Given the description of an element on the screen output the (x, y) to click on. 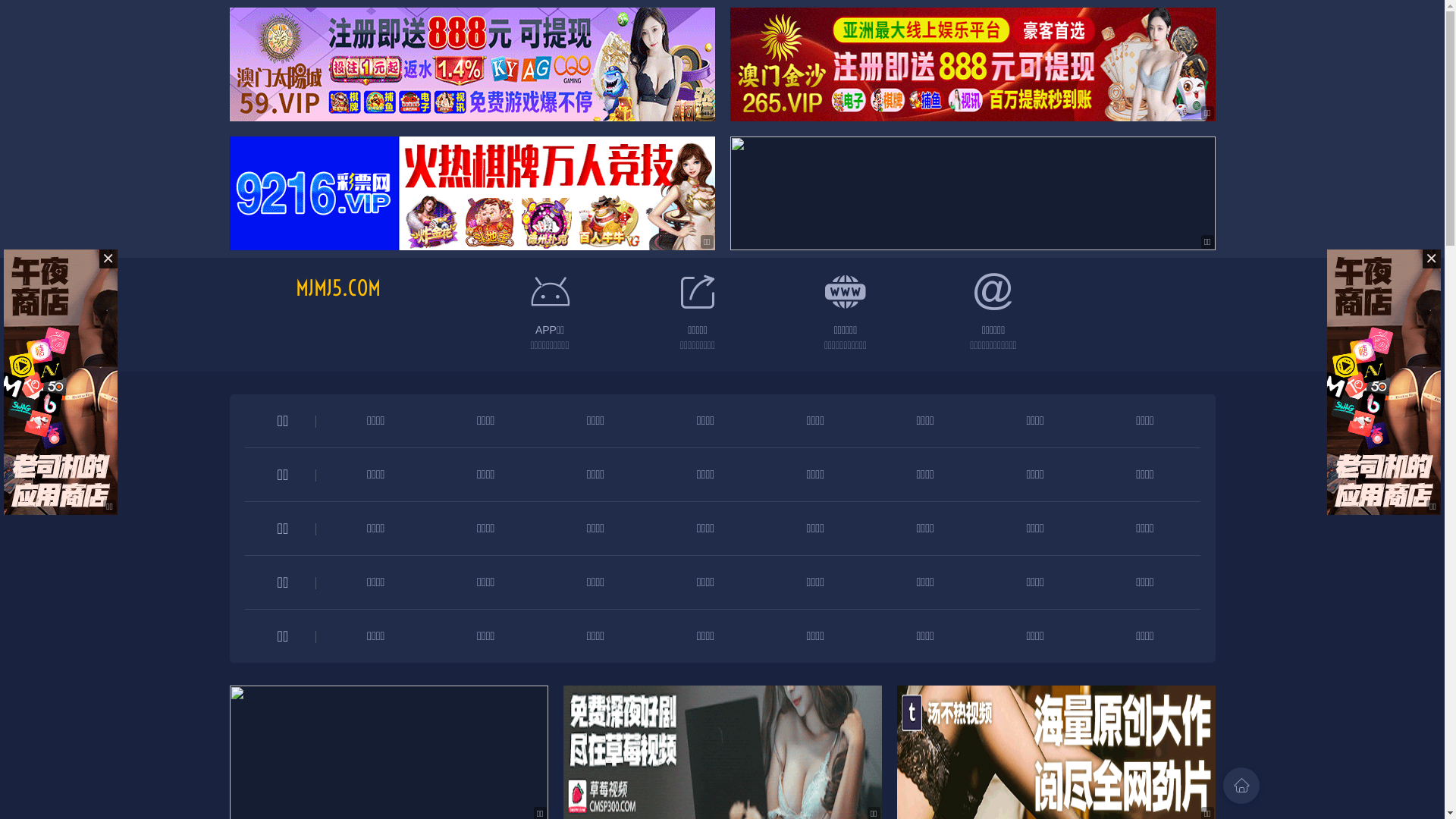
MJMJ5.COM Element type: text (337, 287)
